Given the description of an element on the screen output the (x, y) to click on. 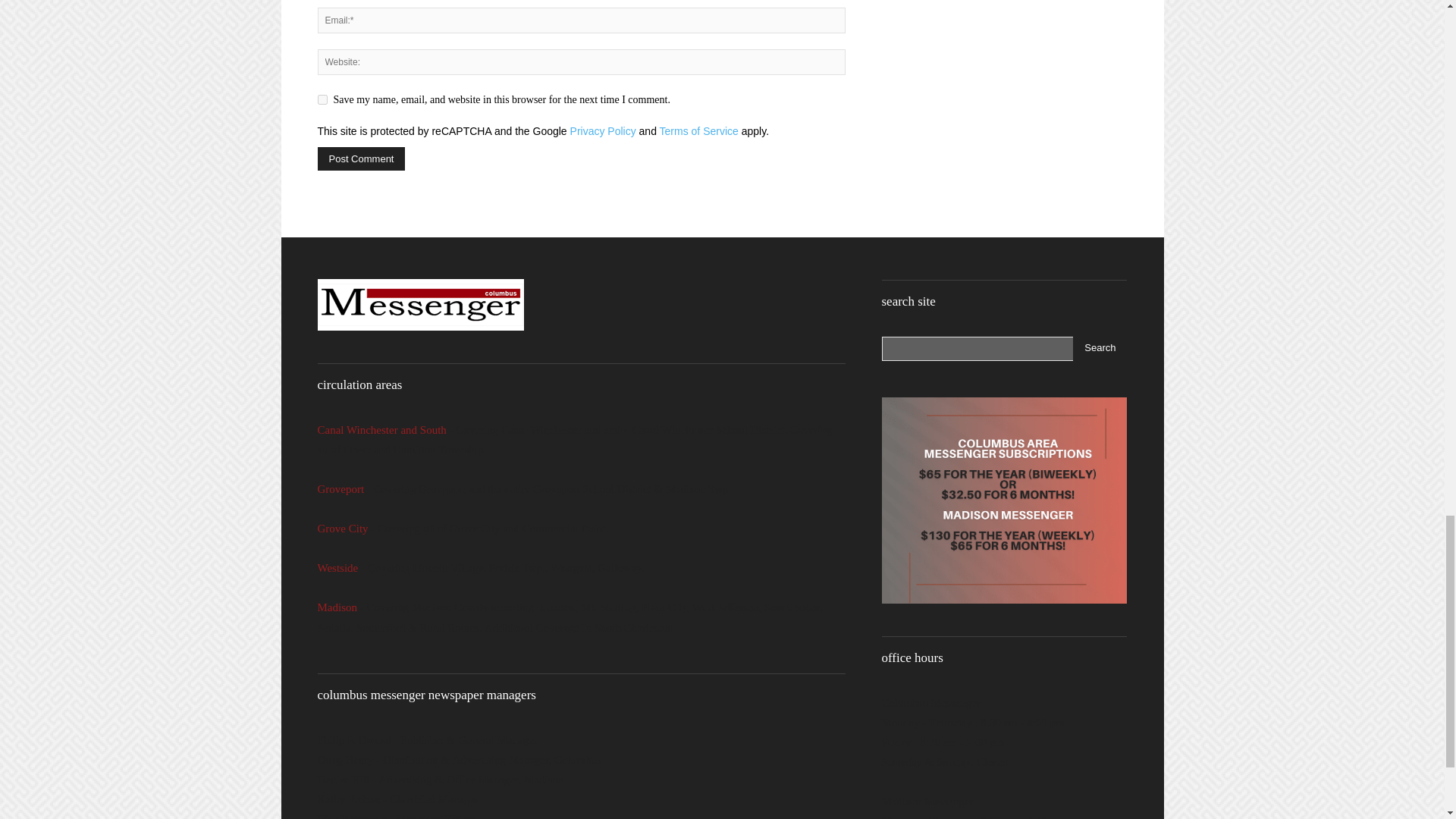
Search (1099, 348)
Post Comment (360, 158)
yes (321, 99)
